Given the description of an element on the screen output the (x, y) to click on. 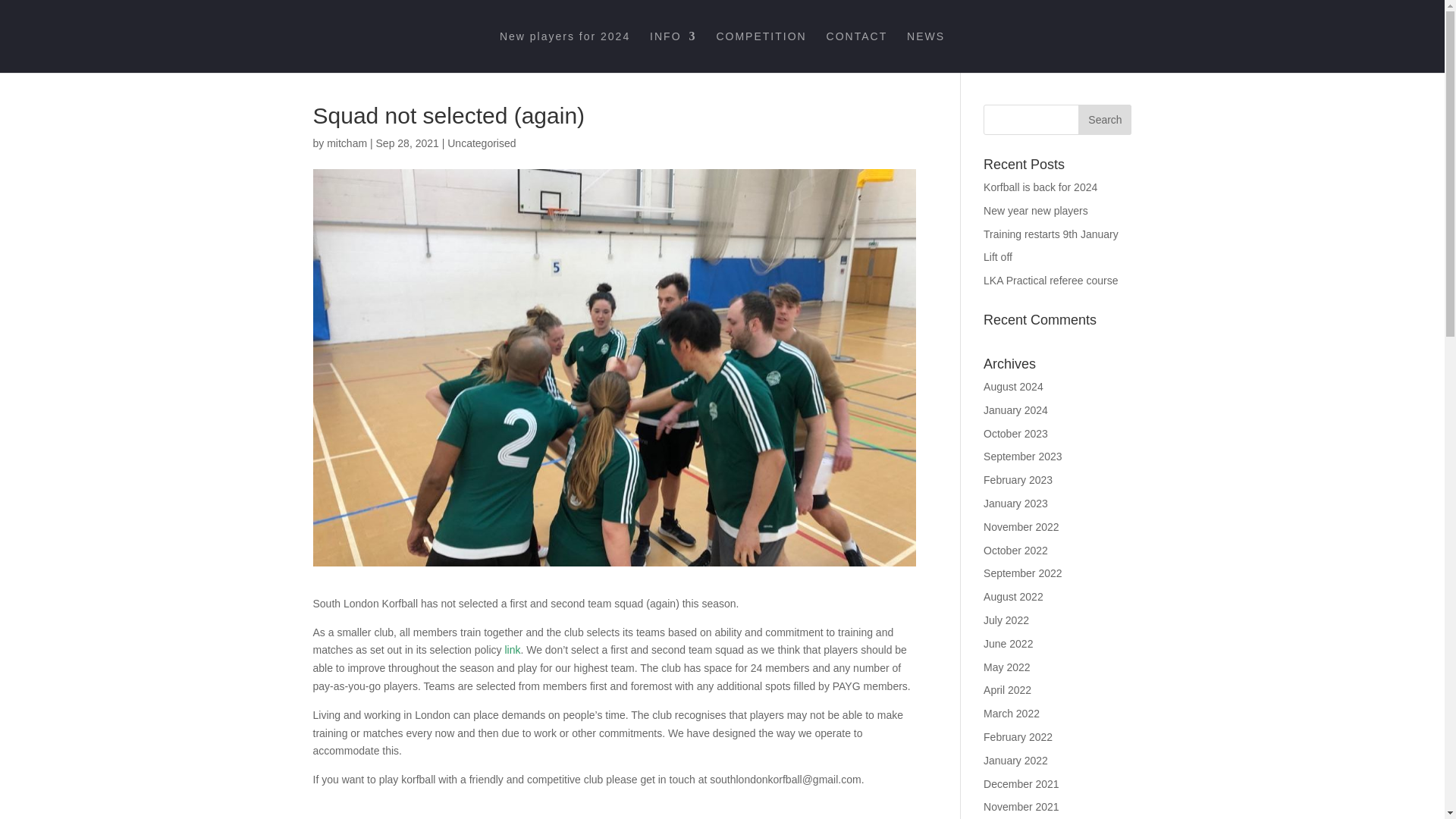
Posts by mitcham (346, 143)
mitcham (346, 143)
February 2023 (1018, 480)
Uncategorised (480, 143)
New players for 2024 (564, 51)
October 2022 (1016, 550)
January 2023 (1016, 503)
August 2024 (1013, 386)
INFO (672, 51)
link (511, 649)
